Given the description of an element on the screen output the (x, y) to click on. 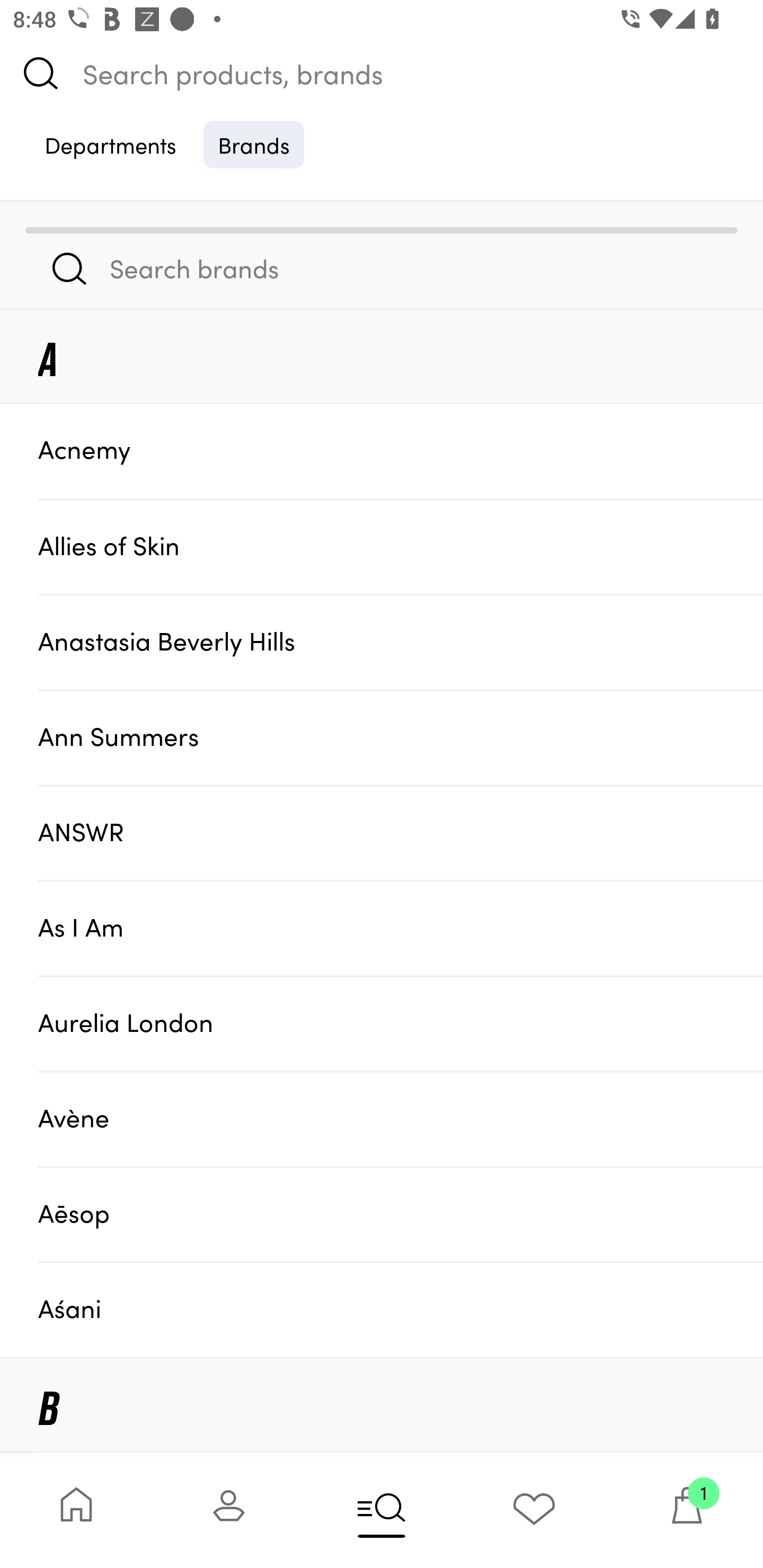
Search products, brands (381, 72)
Departments (110, 143)
Brands (253, 143)
Acnemy (400, 450)
Allies of Skin (400, 546)
Anastasia Beverly Hills (400, 641)
Ann Summers (400, 737)
ANSWR (400, 832)
As I Am (400, 927)
Aurelia London (400, 1022)
Avène (400, 1118)
Aēsop (400, 1214)
Aśani (400, 1309)
1 (686, 1512)
